Given the description of an element on the screen output the (x, y) to click on. 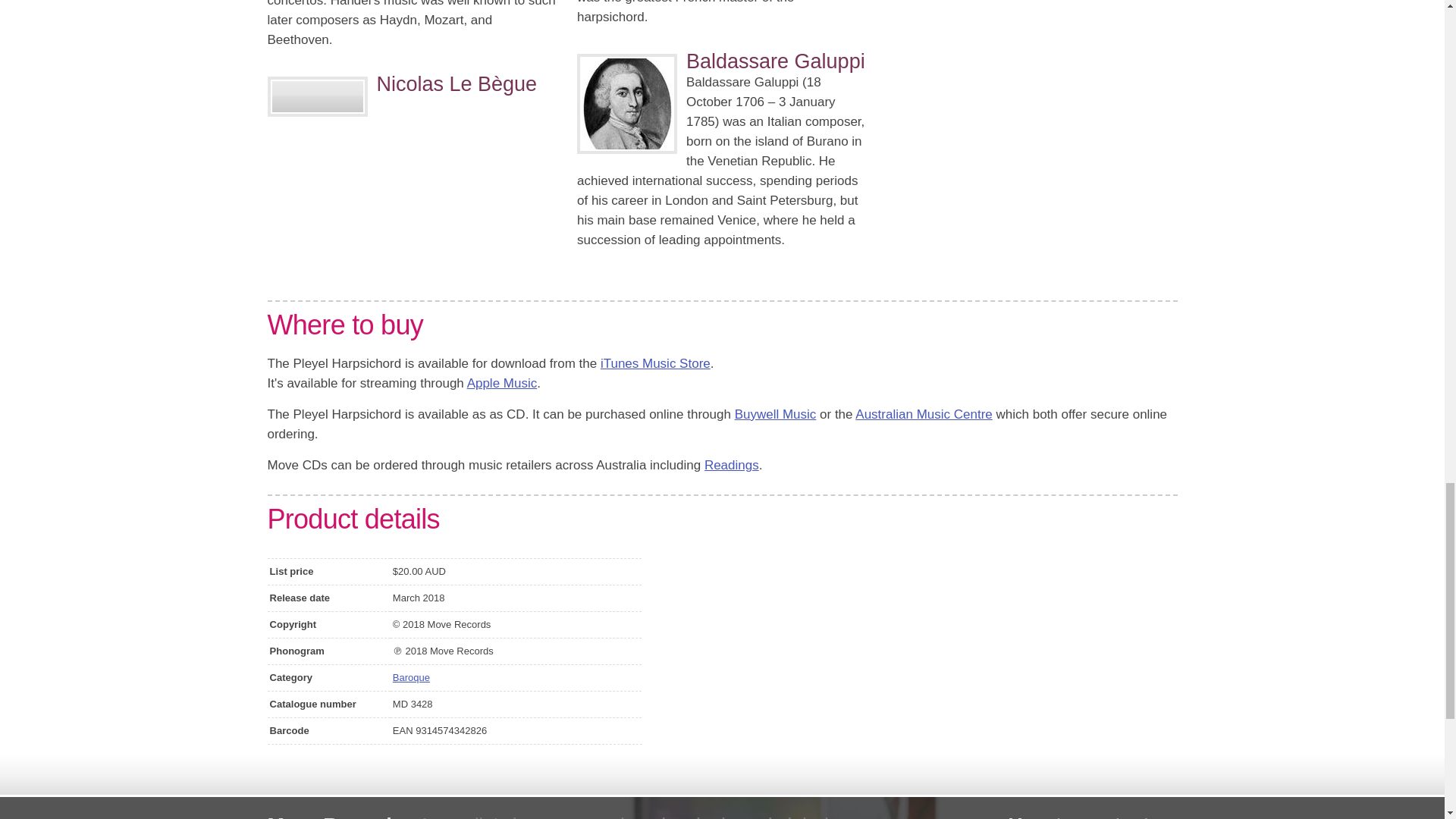
Readings (731, 464)
Buywell Music (775, 414)
Baldassare Galuppi (774, 60)
Apple Music (502, 382)
iTunes Music Store (654, 363)
Australian Music Centre (923, 414)
Baroque (411, 677)
